Given the description of an element on the screen output the (x, y) to click on. 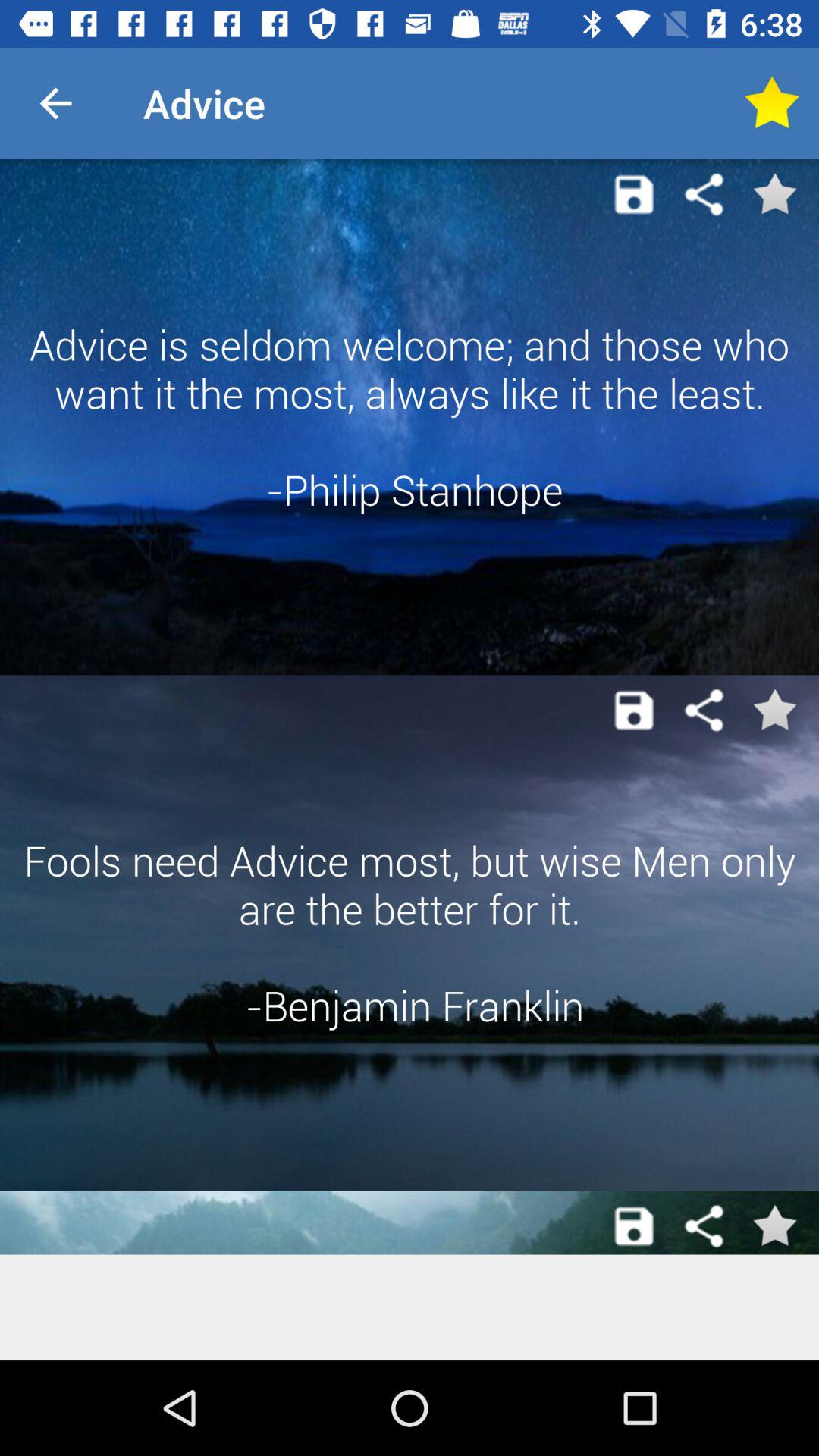
favorite the advice displayed (774, 194)
